Given the description of an element on the screen output the (x, y) to click on. 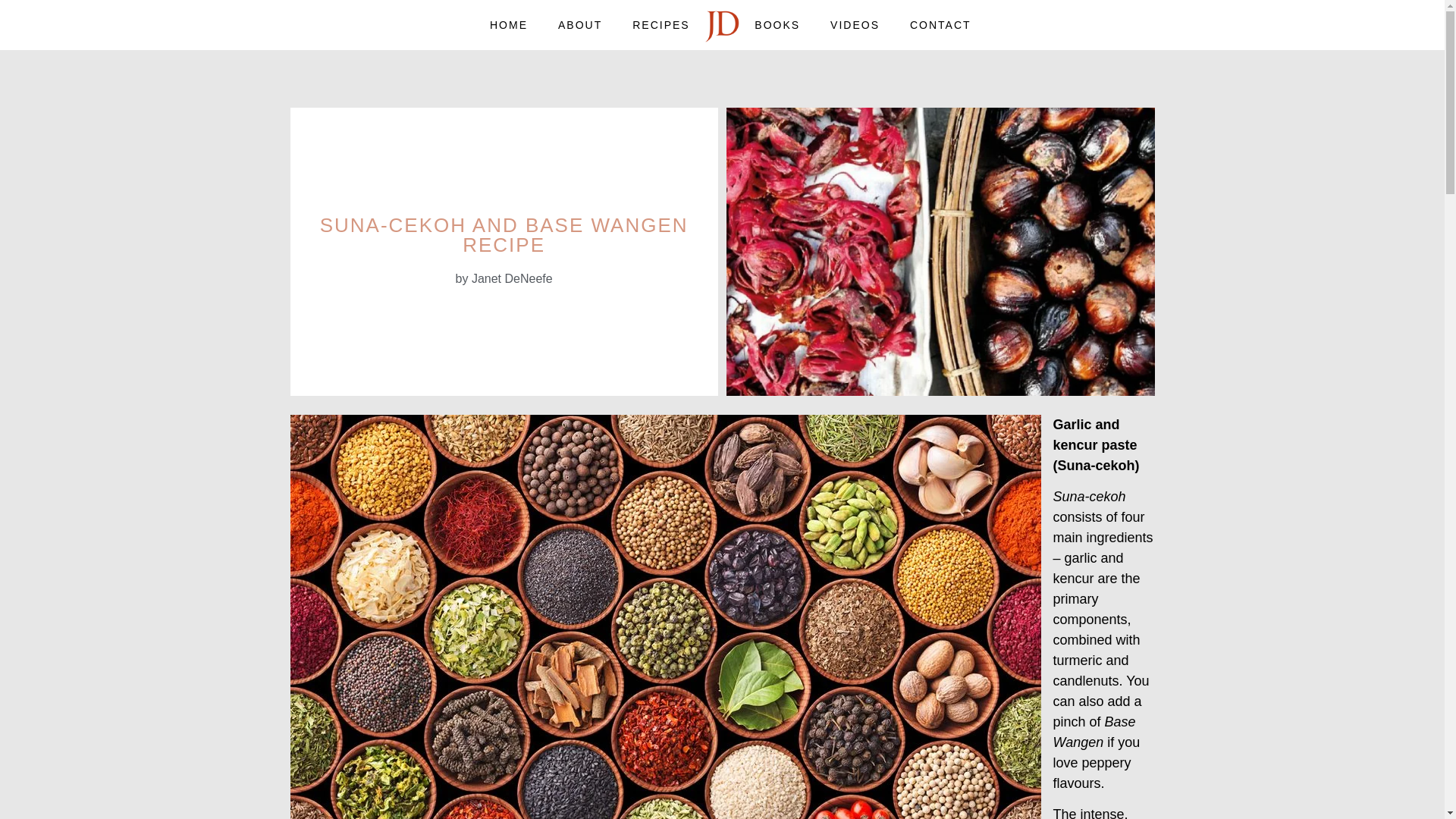
BOOKS (777, 24)
by Janet DeNeefe (504, 279)
VIDEOS (855, 24)
HOME (508, 24)
RECIPES (660, 24)
ABOUT (580, 24)
CONTACT (941, 24)
